Given the description of an element on the screen output the (x, y) to click on. 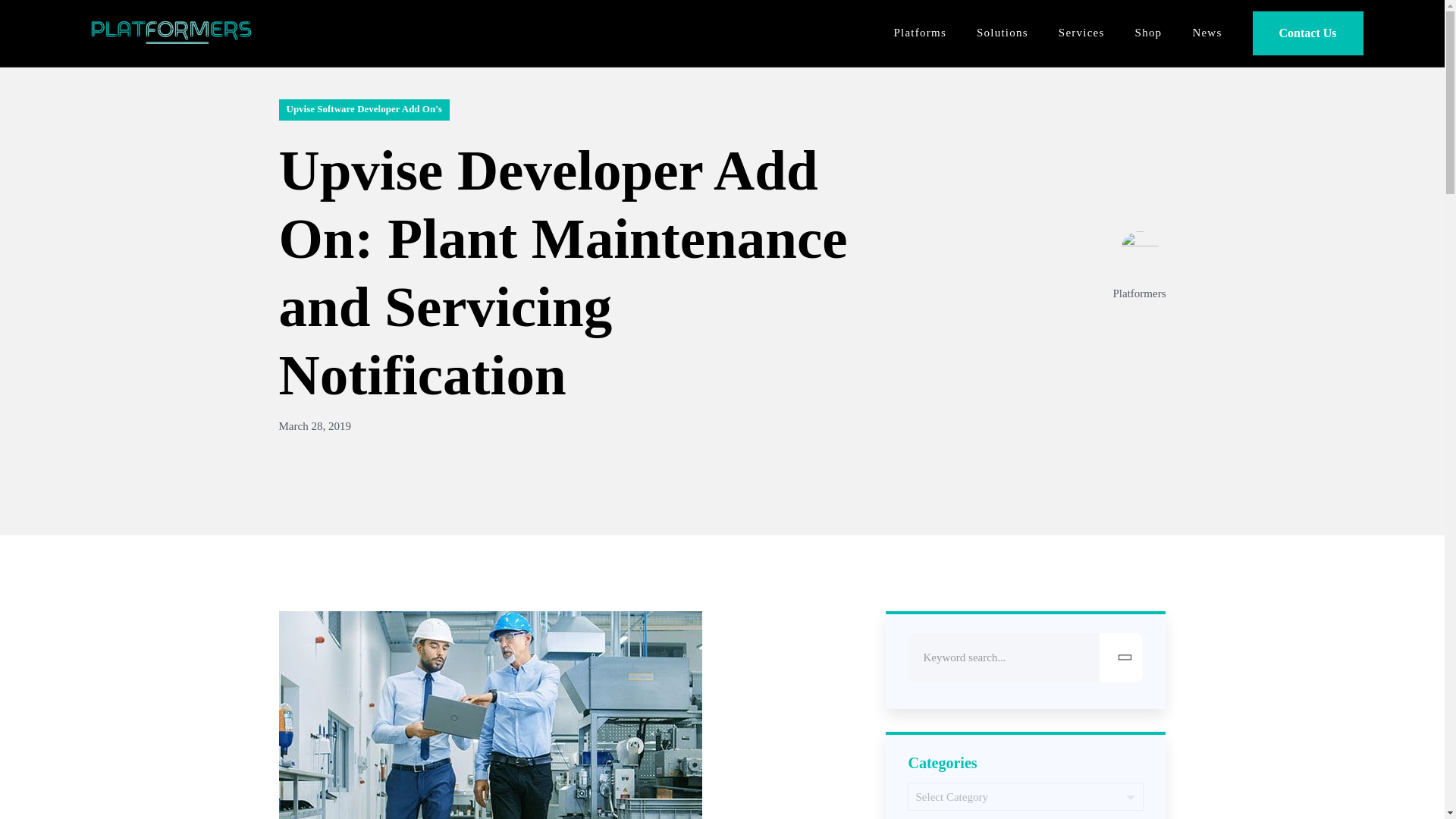
Shop (1148, 32)
Contact Us (1307, 33)
Solutions (1001, 32)
News (1206, 32)
Services (1081, 32)
Platforms (919, 32)
Upvise Software Developer Add On's (364, 109)
